Given the description of an element on the screen output the (x, y) to click on. 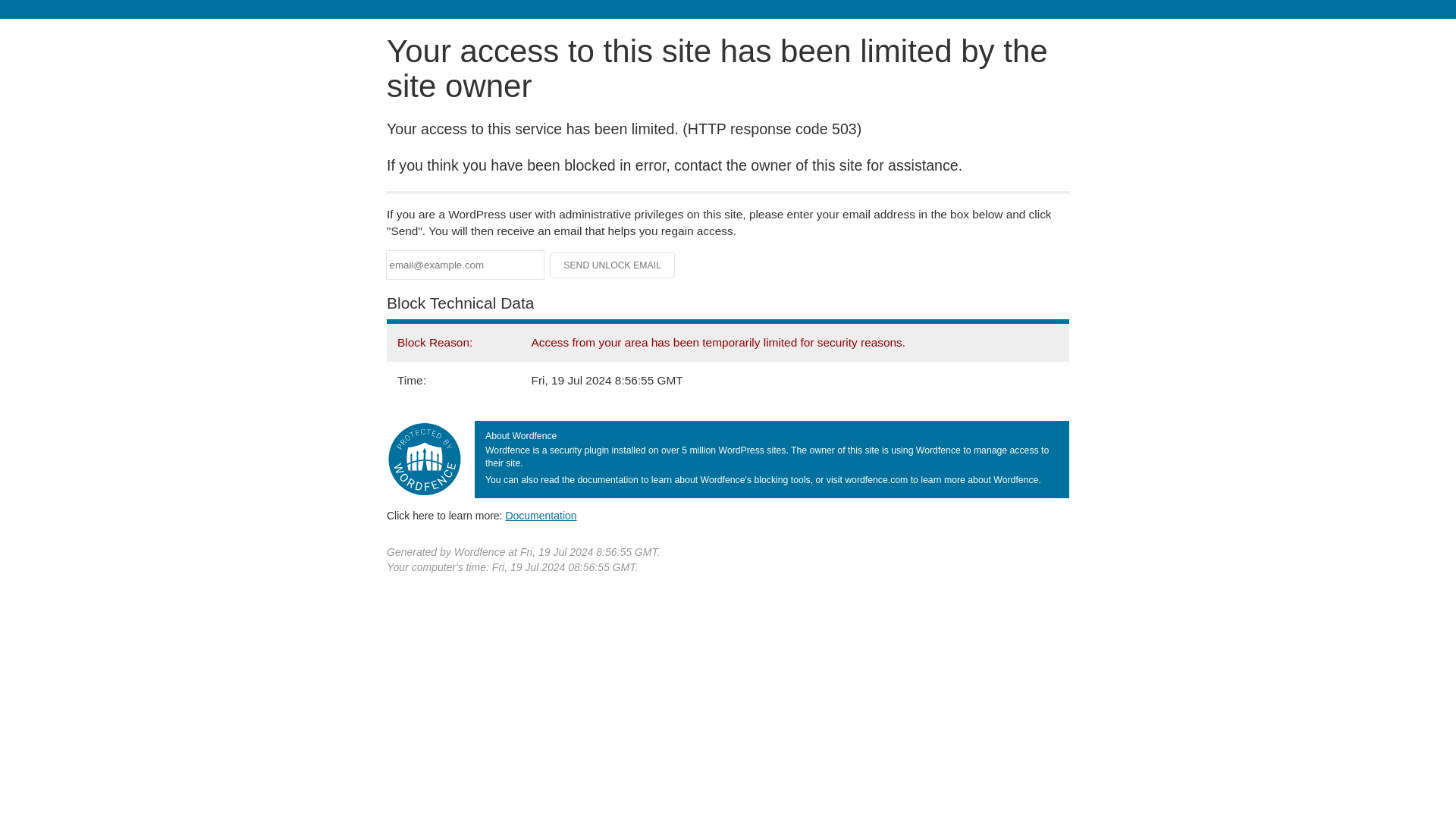
Documentation (540, 515)
Send Unlock Email (612, 265)
Send Unlock Email (612, 265)
